Given the description of an element on the screen output the (x, y) to click on. 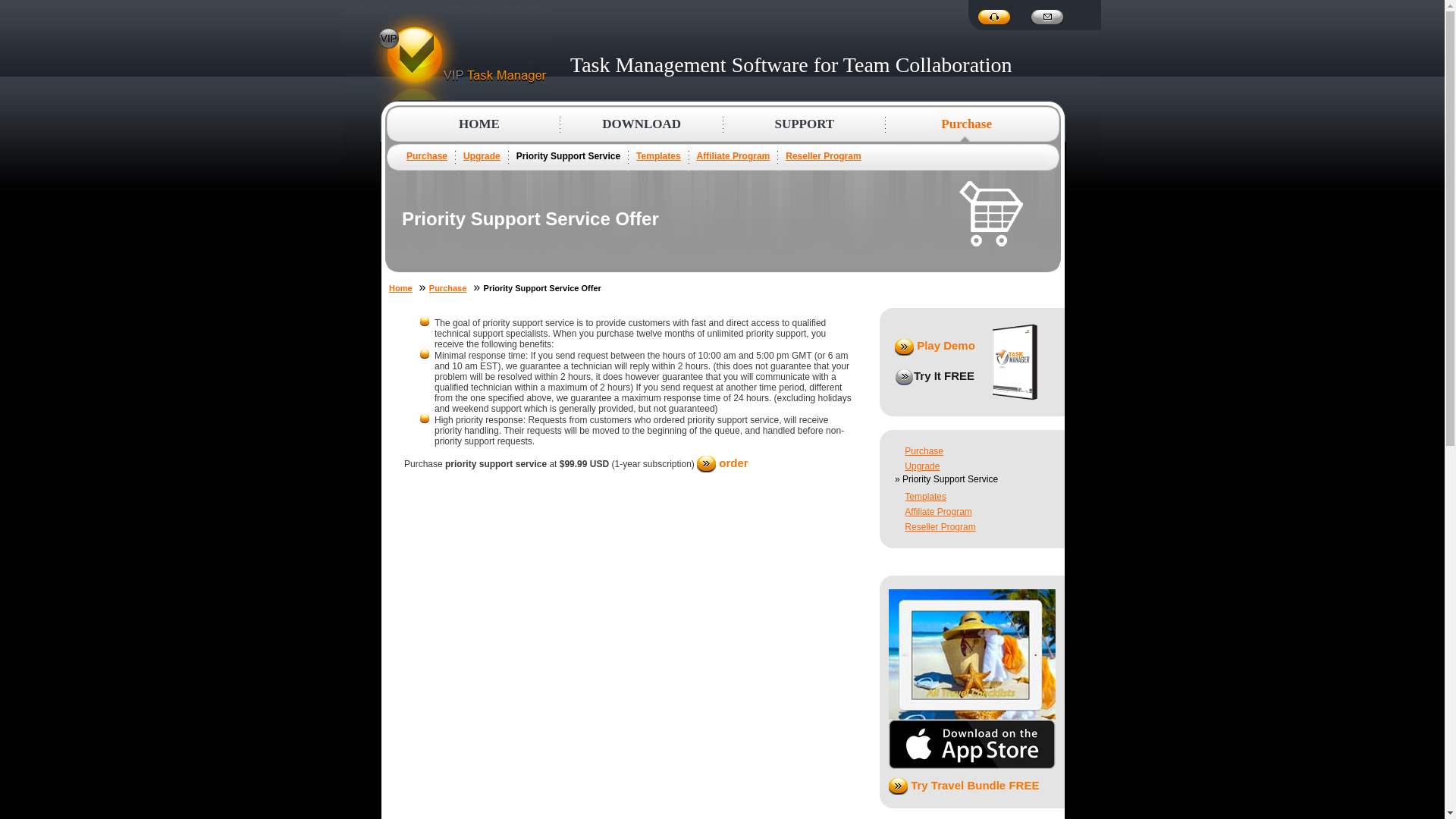
 order (722, 462)
Reseller Program (823, 155)
Templates (925, 496)
Priority Support Service Offer (991, 213)
 Play Demo (935, 345)
Templates (657, 155)
HOME (478, 124)
Upgrade (481, 155)
Purchase (426, 155)
Home (400, 287)
Reseller Program (939, 526)
Affiliate Program (937, 511)
Purchase (923, 450)
 Try Travel Bundle FREE (963, 784)
Upgrade (921, 466)
